Given the description of an element on the screen output the (x, y) to click on. 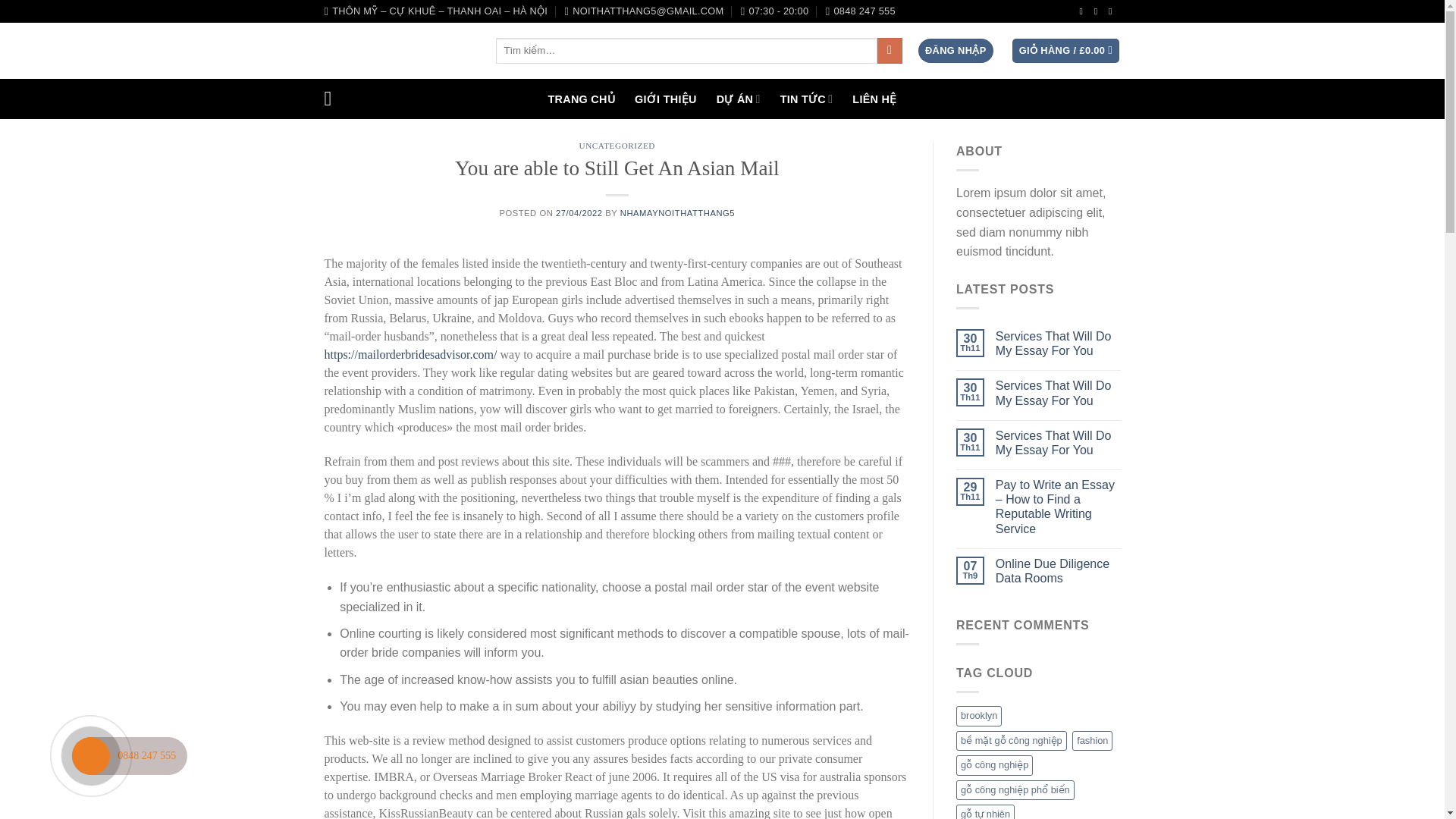
07:30 - 20:00 (775, 11)
UNCATEGORIZED (617, 144)
NHAMAYNOITHATTHANG5 (677, 212)
0848 247 555 (860, 11)
0848 247 555 (860, 11)
